Given the description of an element on the screen output the (x, y) to click on. 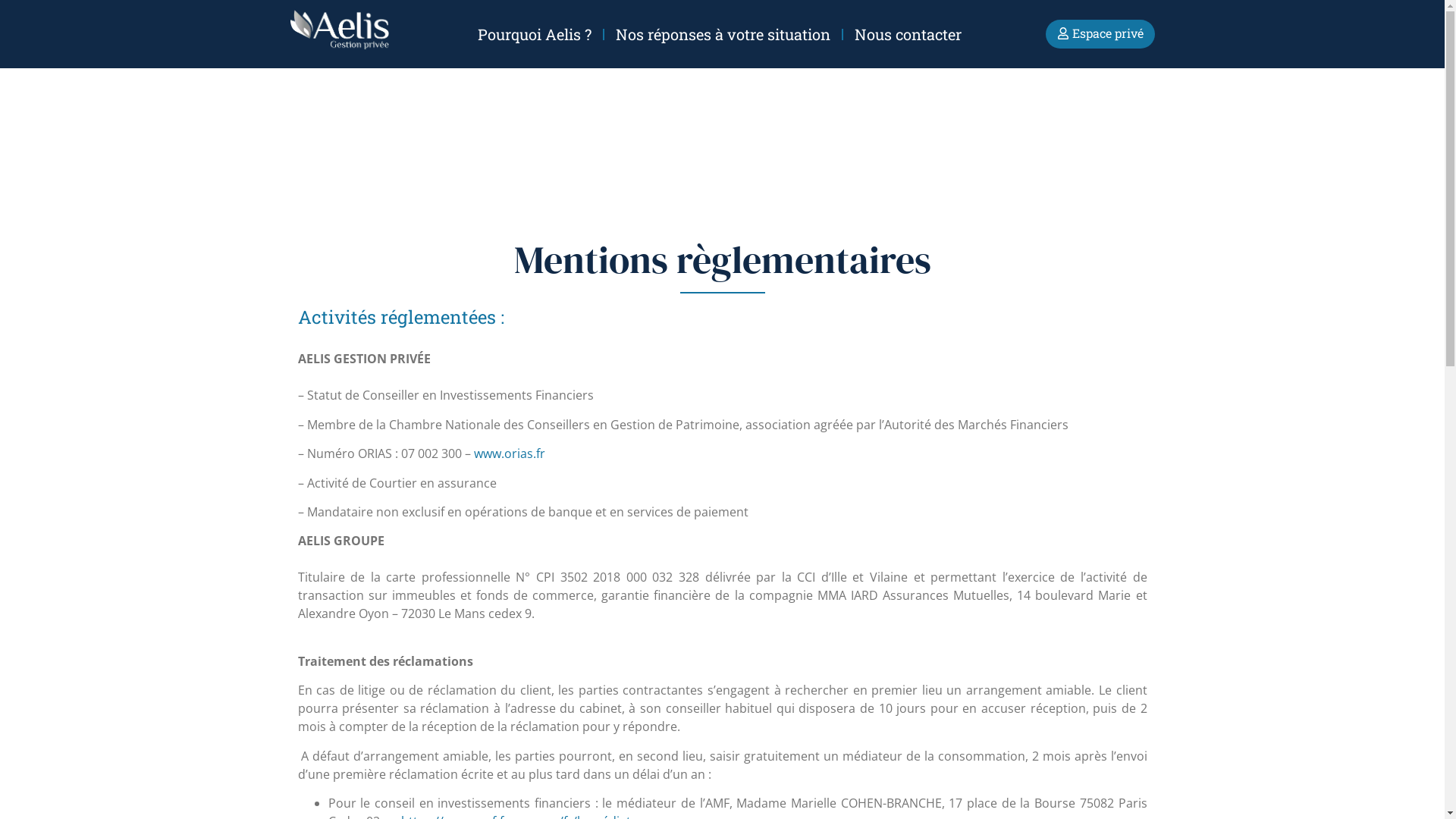
Pourquoi Aelis ? Element type: text (534, 33)
www.orias.fr Element type: text (508, 453)
Nous contacter Element type: text (907, 33)
